Given the description of an element on the screen output the (x, y) to click on. 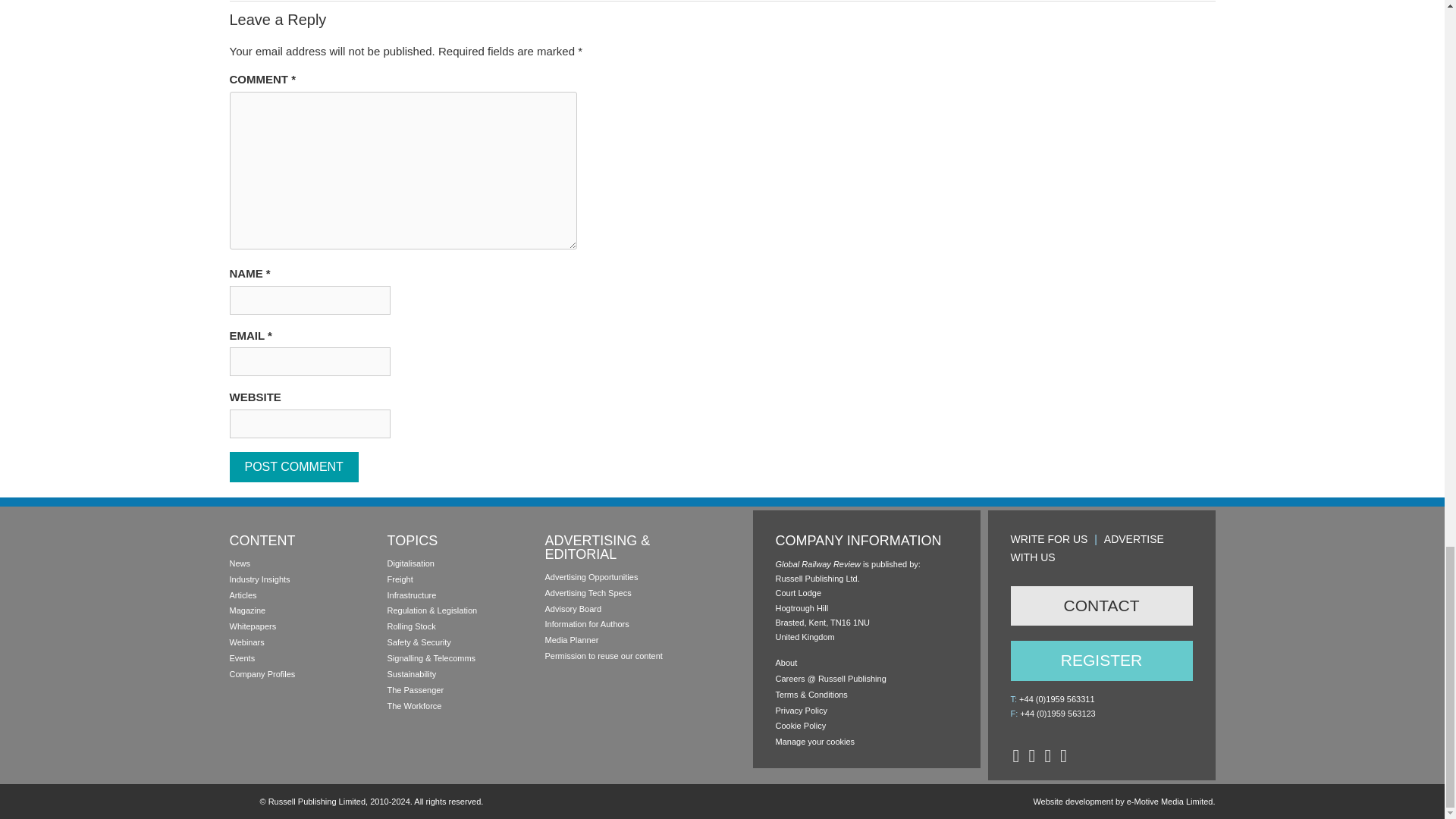
Post Comment (293, 467)
